Given the description of an element on the screen output the (x, y) to click on. 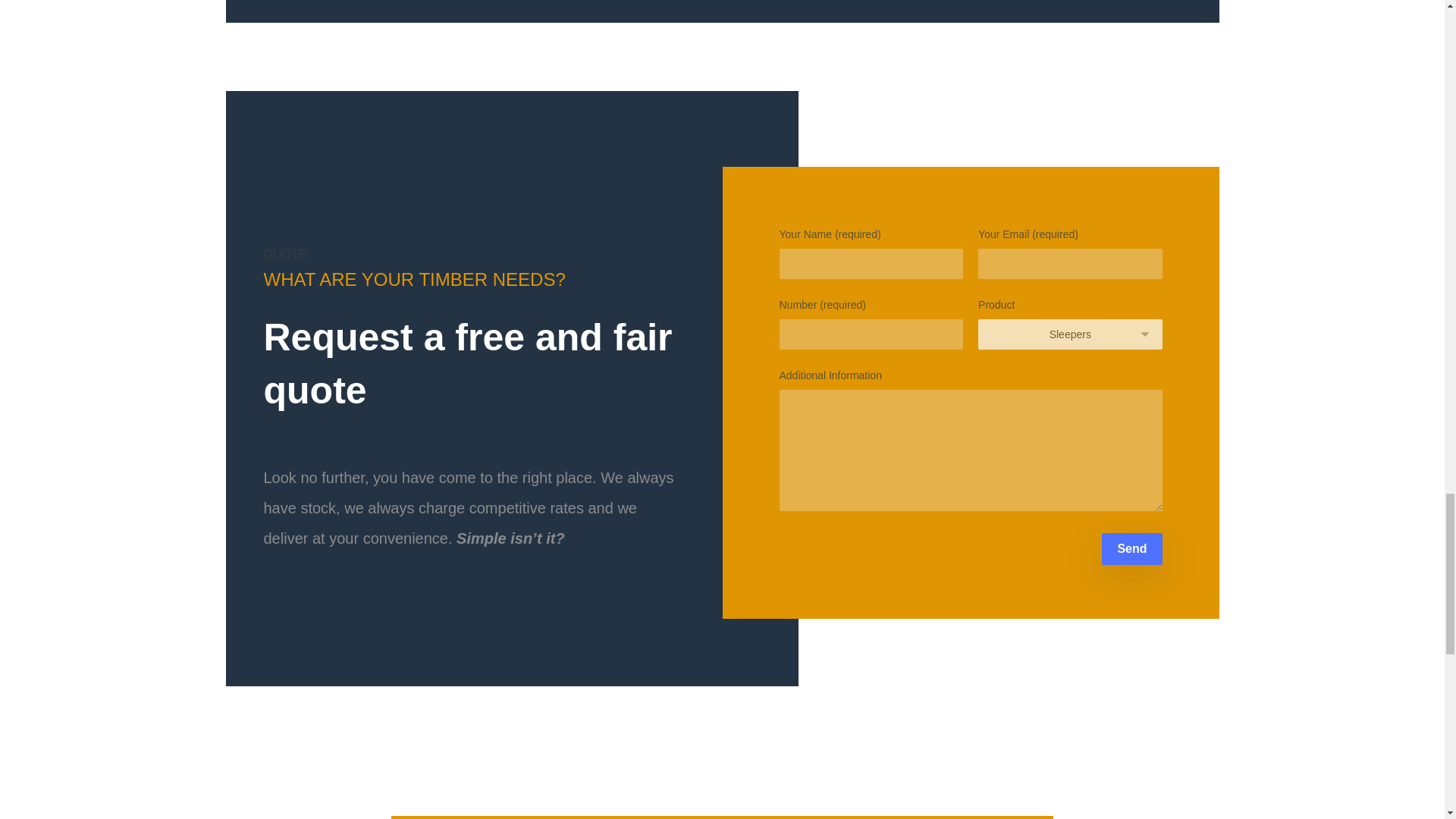
Send (1131, 549)
